Given the description of an element on the screen output the (x, y) to click on. 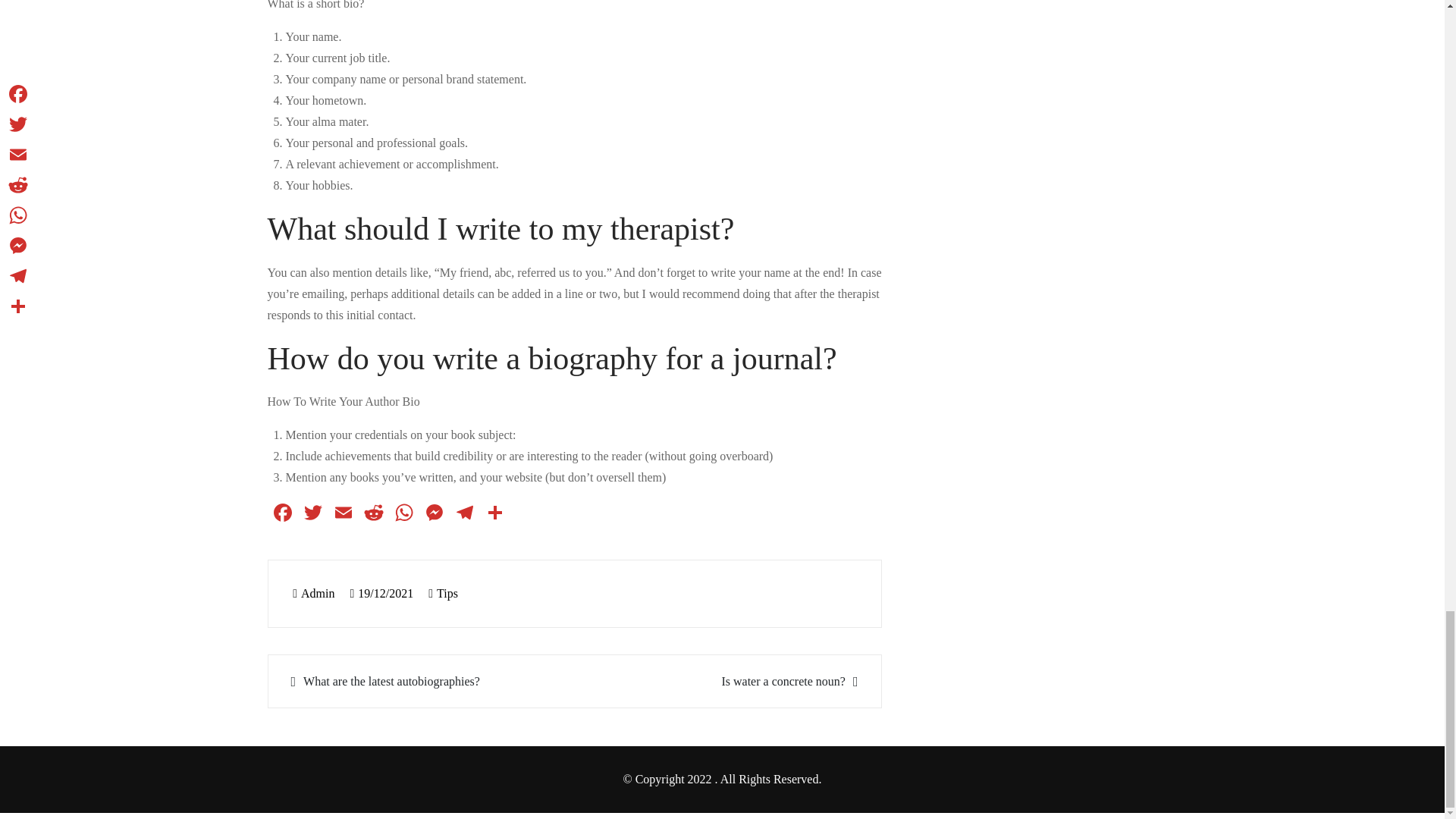
Tips (447, 593)
Facebook (281, 514)
Messenger (433, 514)
WhatsApp (403, 514)
Reddit (373, 514)
Email (342, 514)
Email (342, 514)
Admin (313, 593)
Share (494, 514)
What are the latest autobiographies? (423, 681)
